Given the description of an element on the screen output the (x, y) to click on. 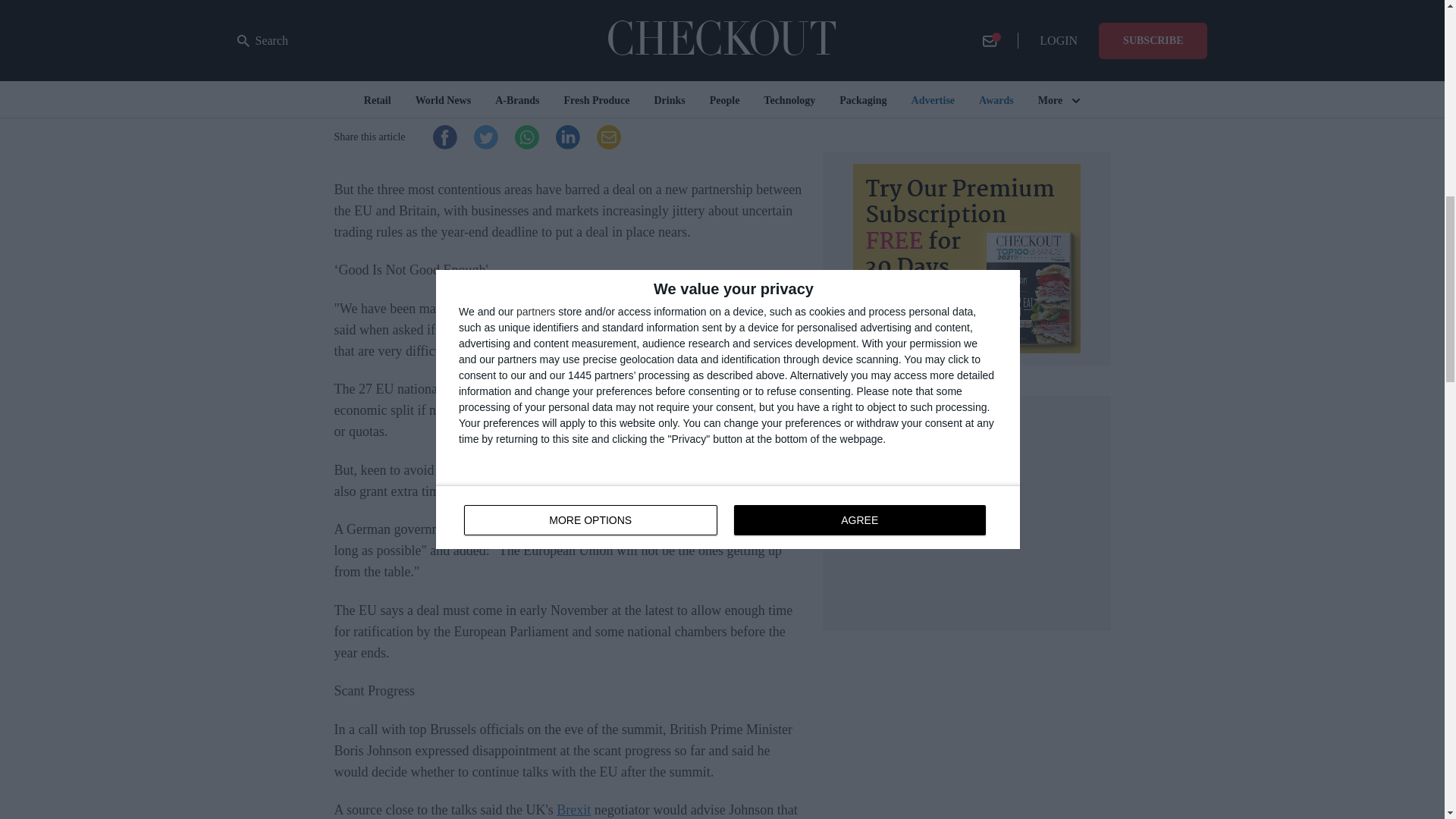
Brexit (573, 809)
